Given the description of an element on the screen output the (x, y) to click on. 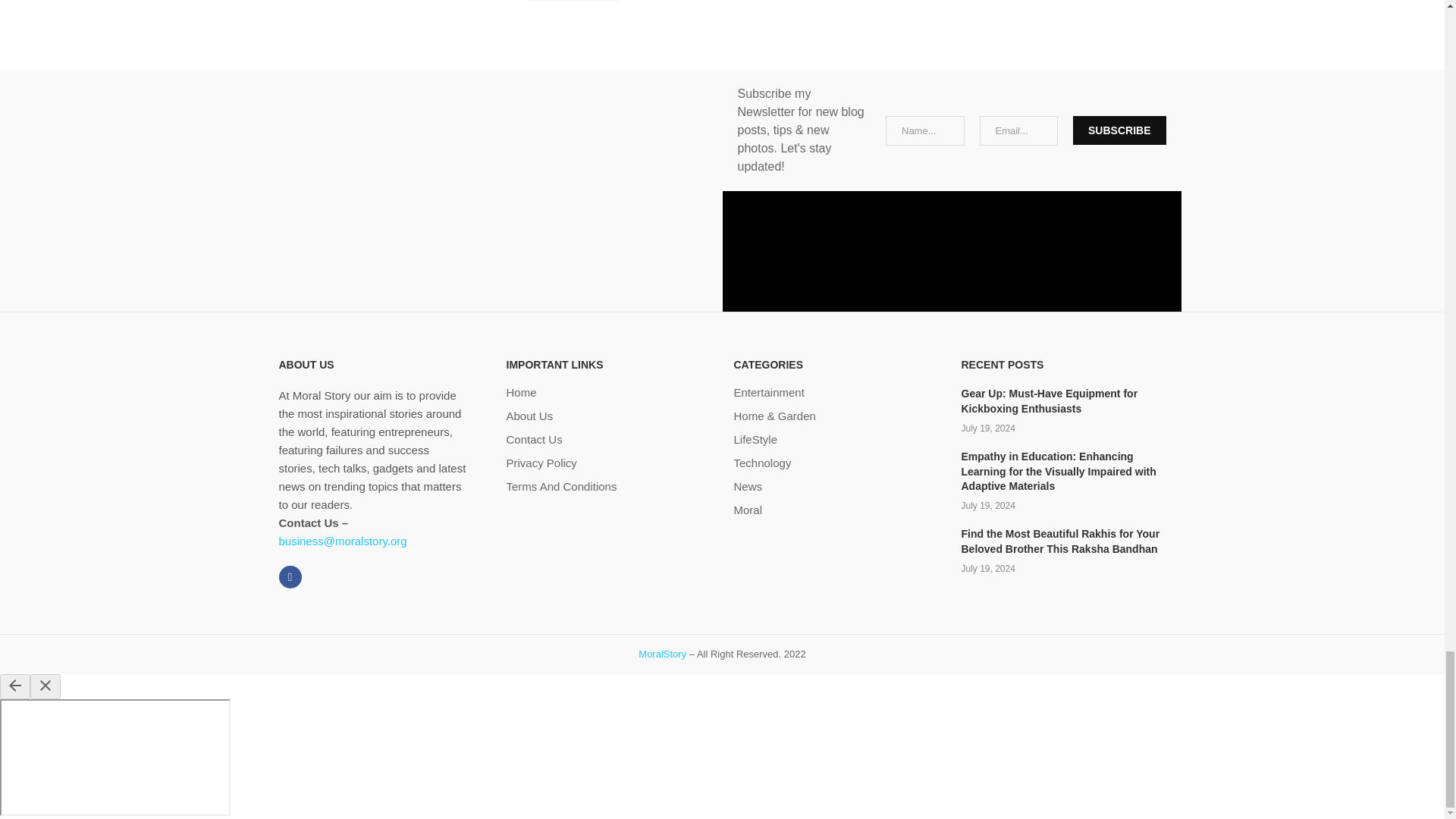
Subscribe (1119, 130)
